Given the description of an element on the screen output the (x, y) to click on. 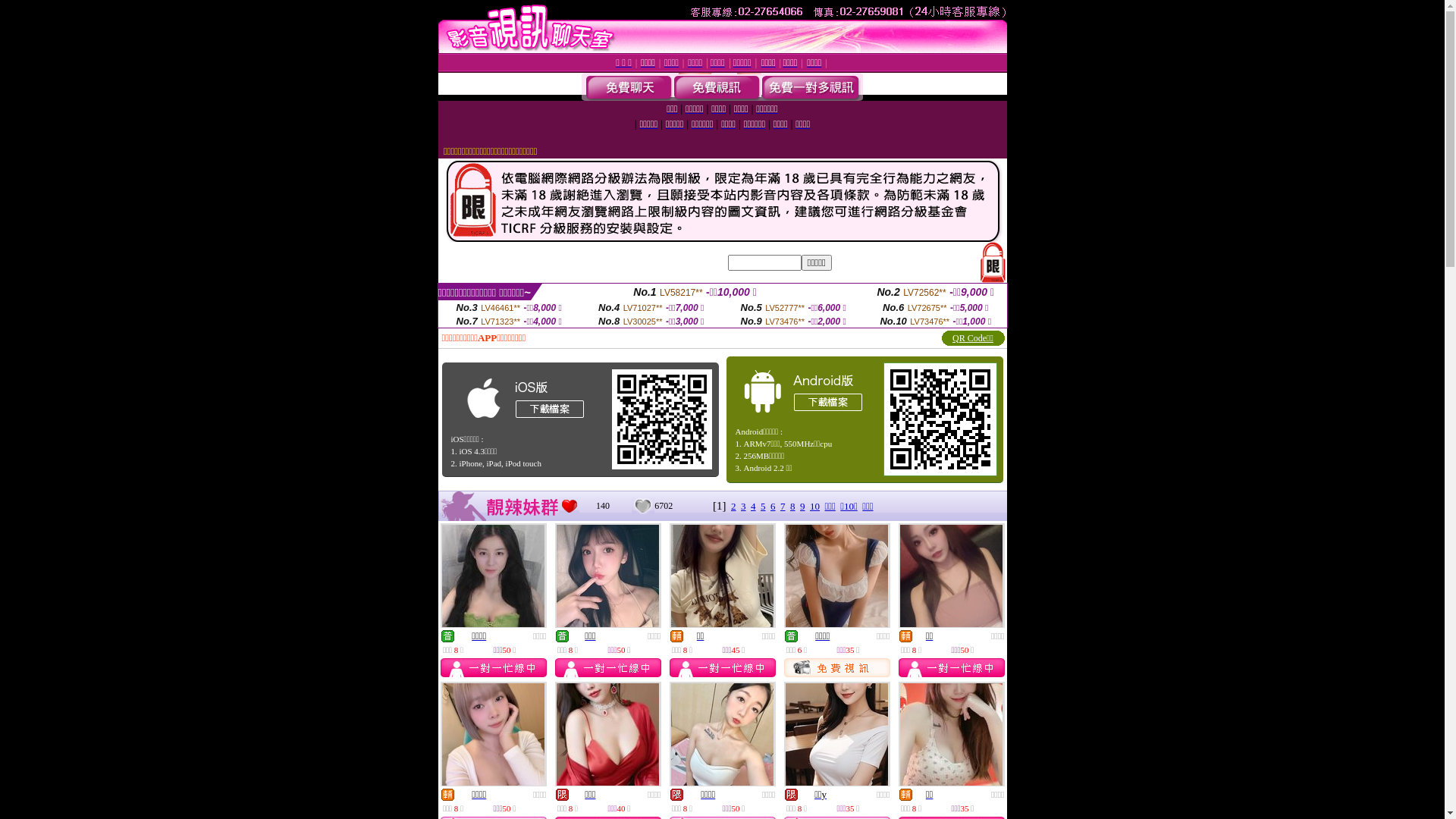
3 Element type: text (743, 505)
6 Element type: text (772, 505)
5 Element type: text (762, 505)
4 Element type: text (753, 505)
8 Element type: text (792, 505)
10 Element type: text (814, 505)
9 Element type: text (802, 505)
2 Element type: text (733, 505)
7 Element type: text (782, 505)
